Given the description of an element on the screen output the (x, y) to click on. 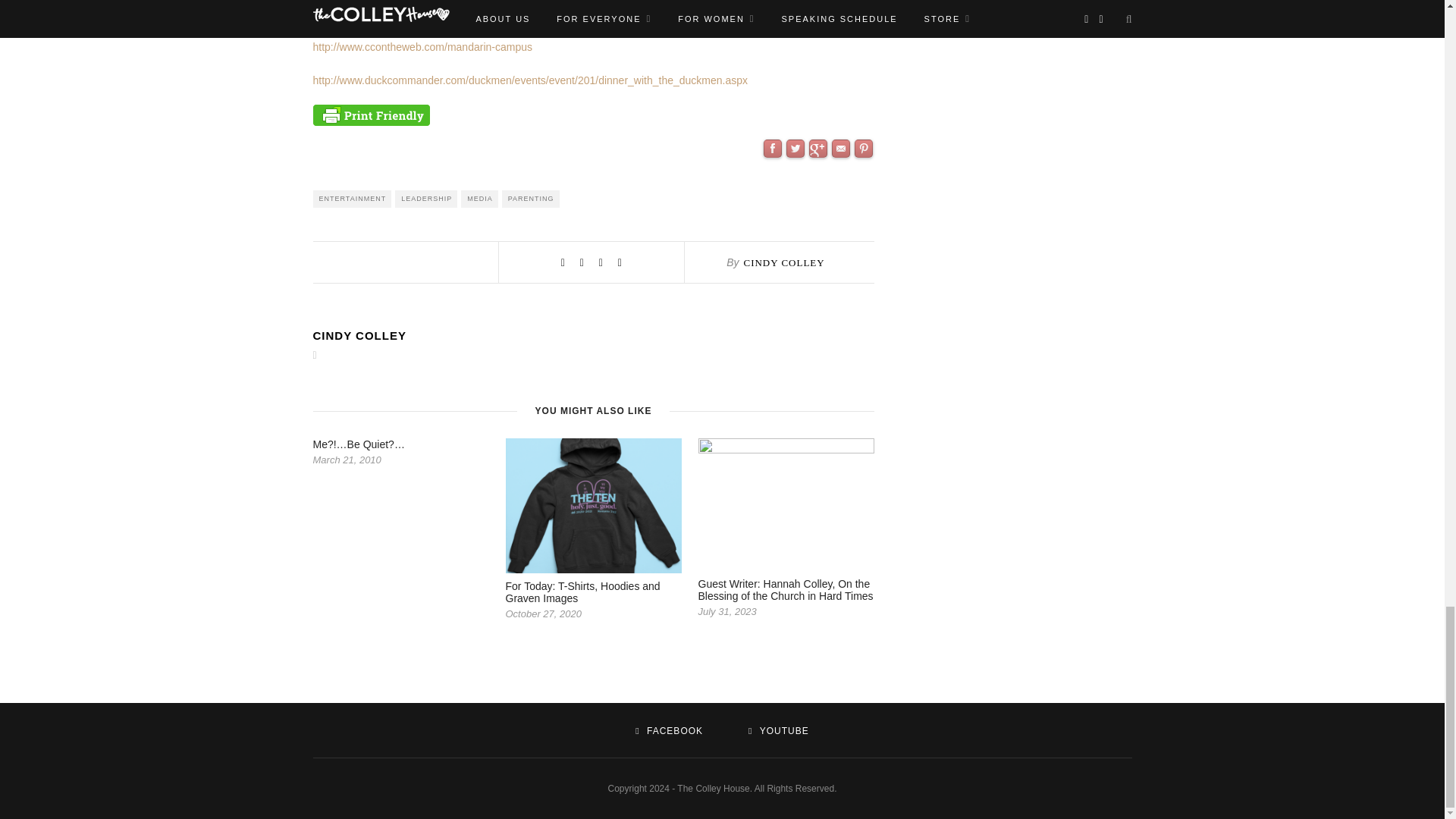
Posts by Cindy Colley (783, 262)
Posts by Cindy Colley (593, 335)
